Given the description of an element on the screen output the (x, y) to click on. 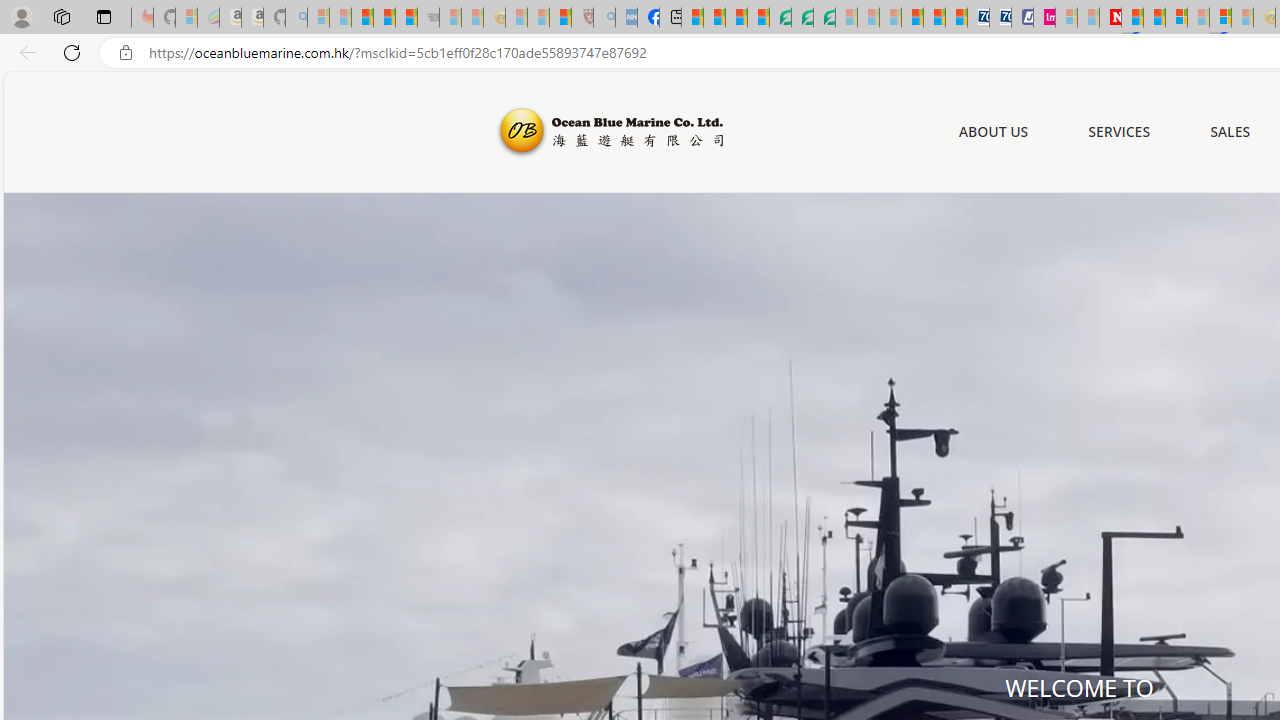
Ocean Blue Marine (608, 132)
ABOUT US (993, 132)
Microsoft Word - consumer-privacy address update 2.2021 (824, 17)
Local - MSN (560, 17)
